Given the description of an element on the screen output the (x, y) to click on. 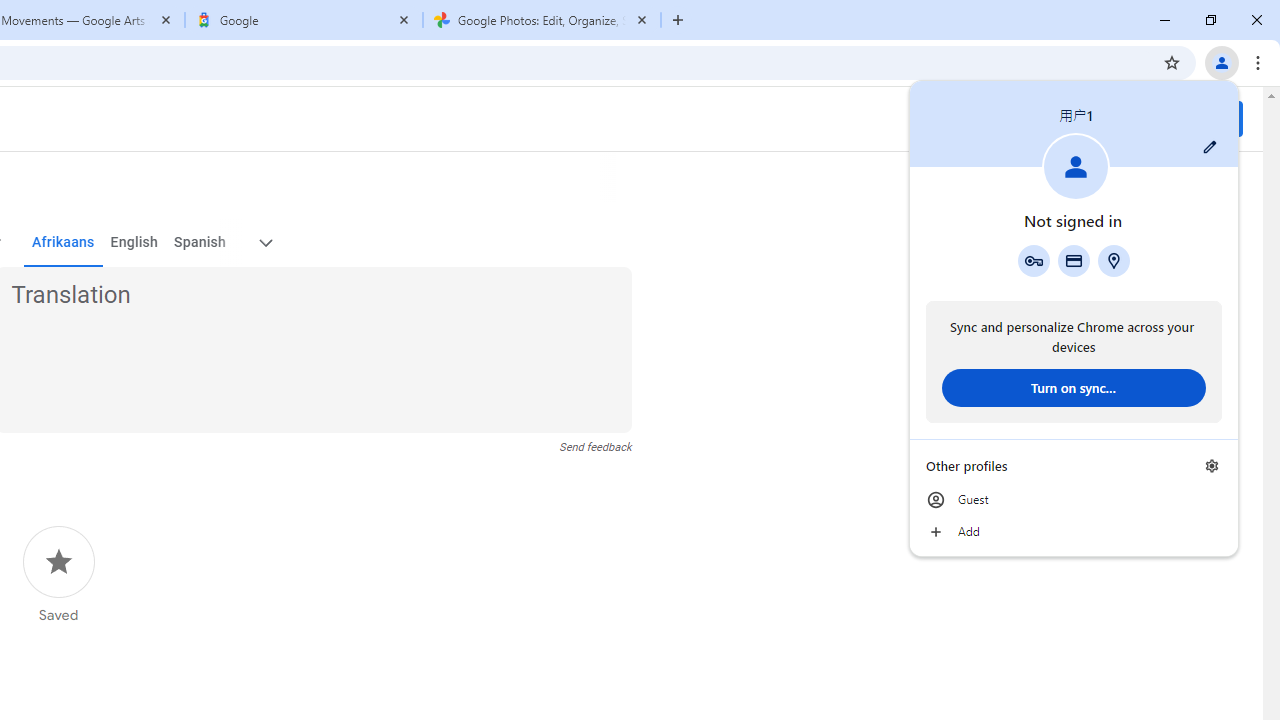
English (134, 242)
Payment methods (1074, 260)
Afrikaans (62, 242)
Guest (1073, 499)
Spanish (199, 242)
Google (304, 20)
Google Password Manager (1033, 260)
Customize profile (1210, 147)
